Given the description of an element on the screen output the (x, y) to click on. 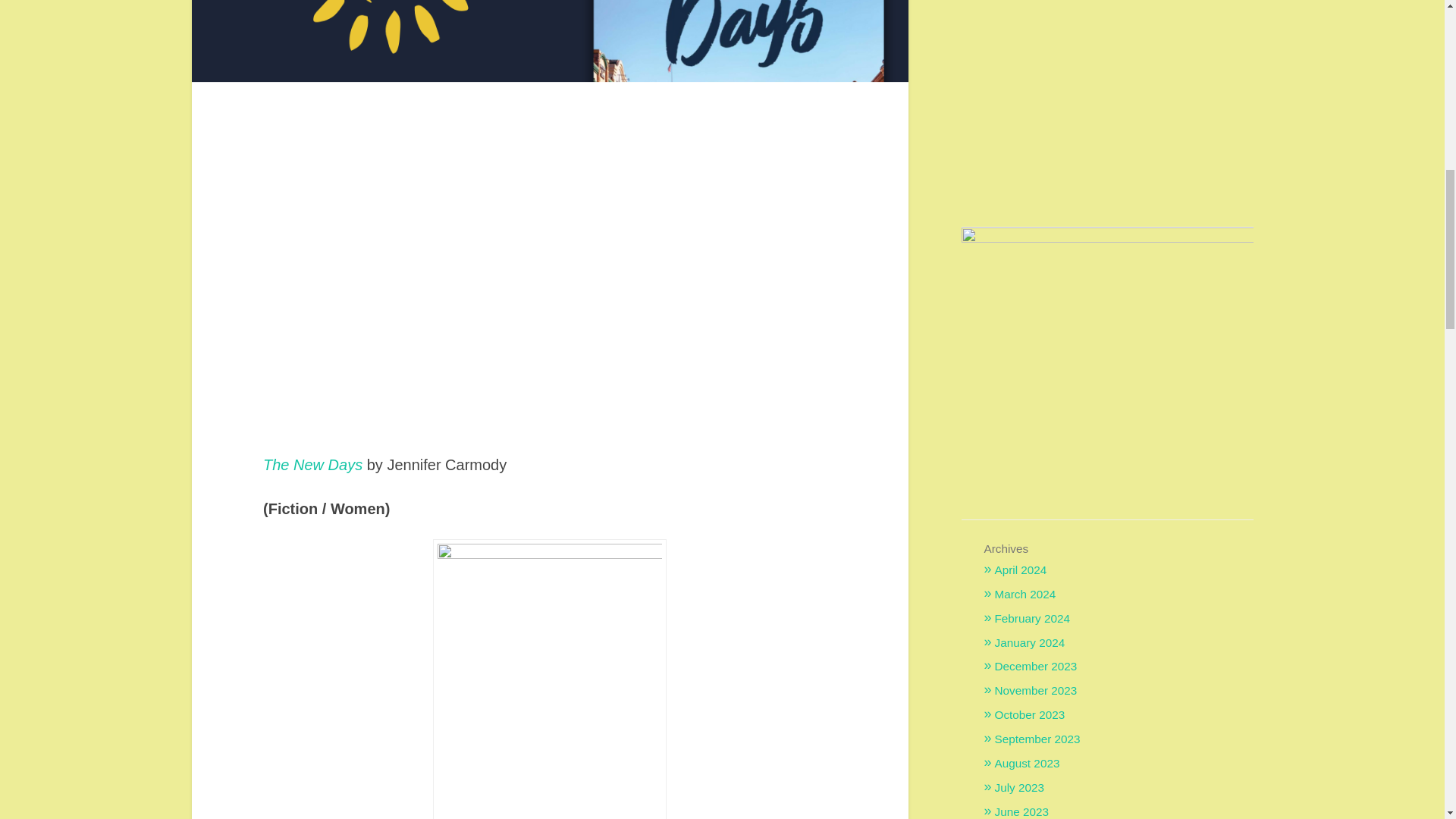
The New Days (312, 464)
